Given the description of an element on the screen output the (x, y) to click on. 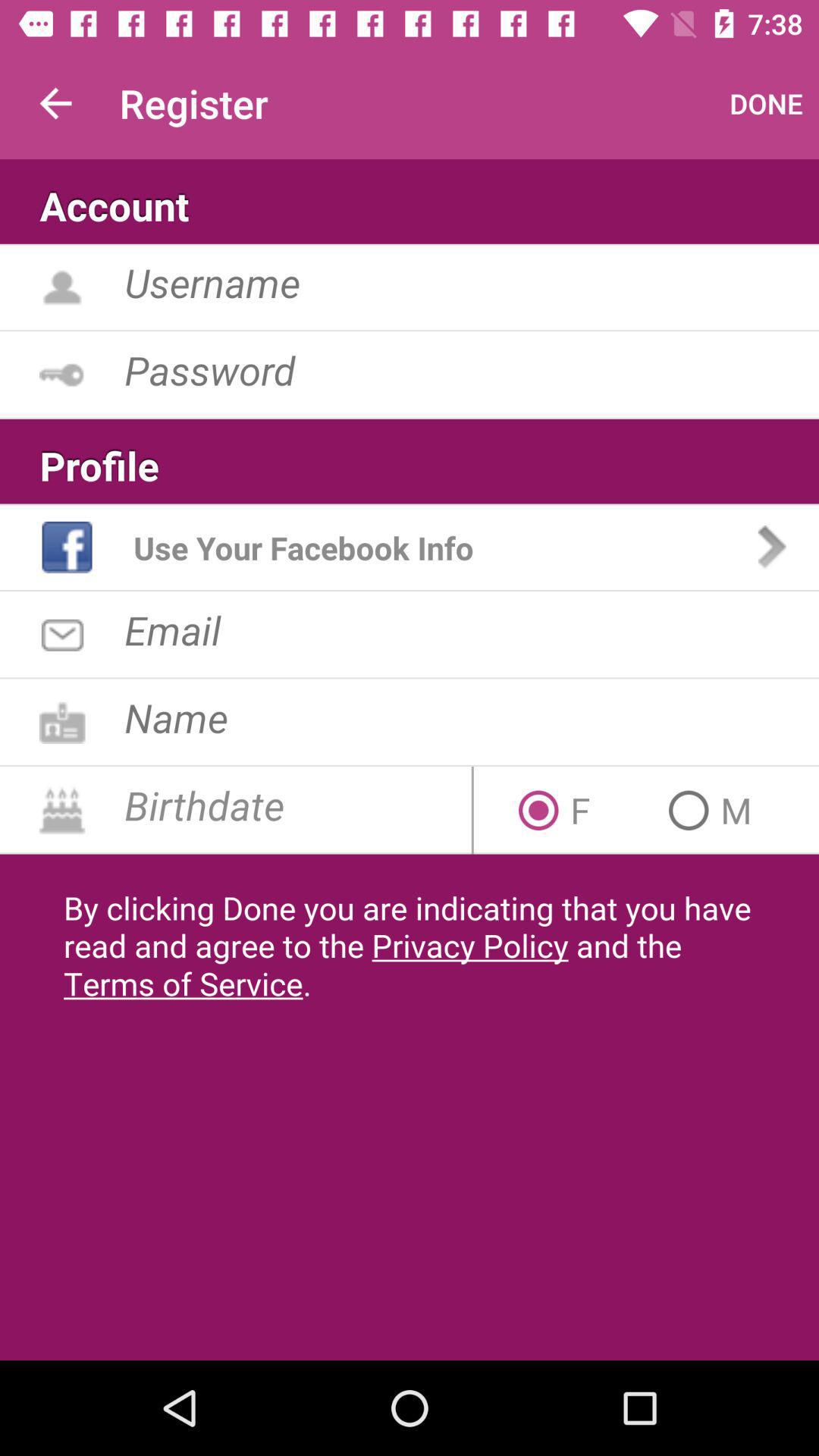
bring up keyboard (471, 369)
